Given the description of an element on the screen output the (x, y) to click on. 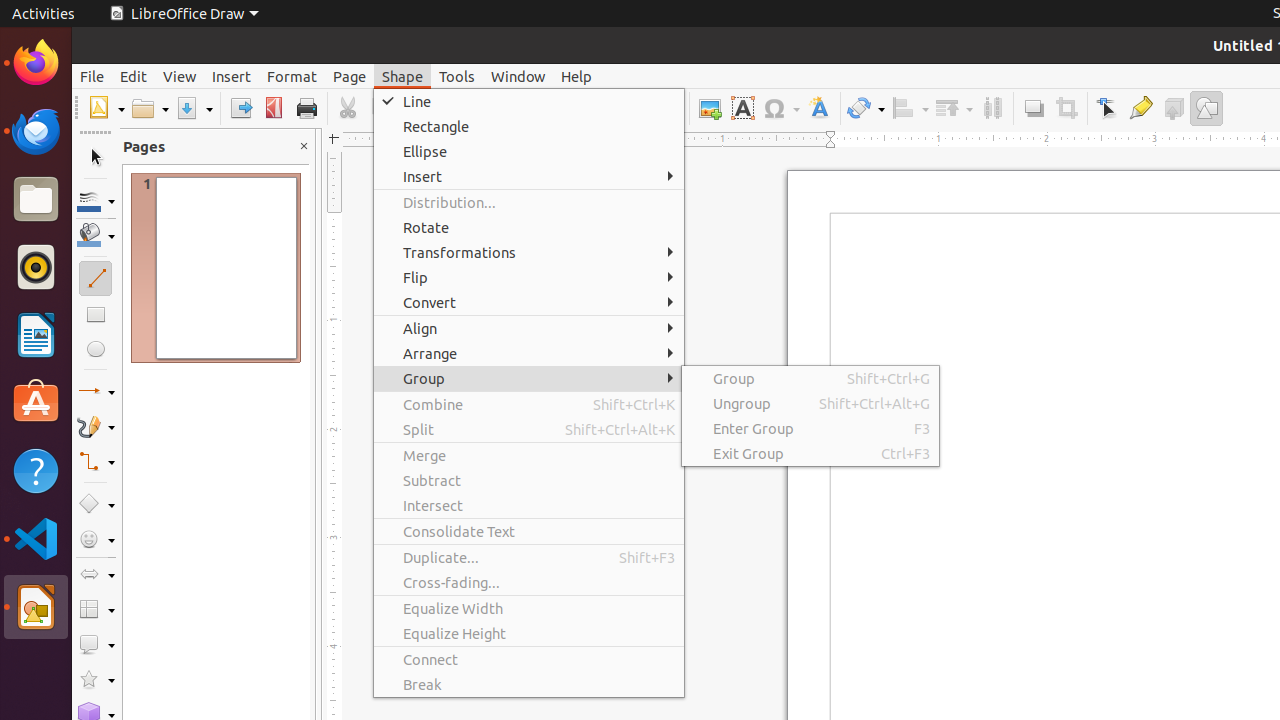
Helplines While Moving Element type: toggle-button (635, 108)
Format Element type: menu (292, 76)
Print Element type: push-button (306, 108)
Symbol Element type: push-button (781, 108)
Transformations Element type: menu (529, 252)
